Given the description of an element on the screen output the (x, y) to click on. 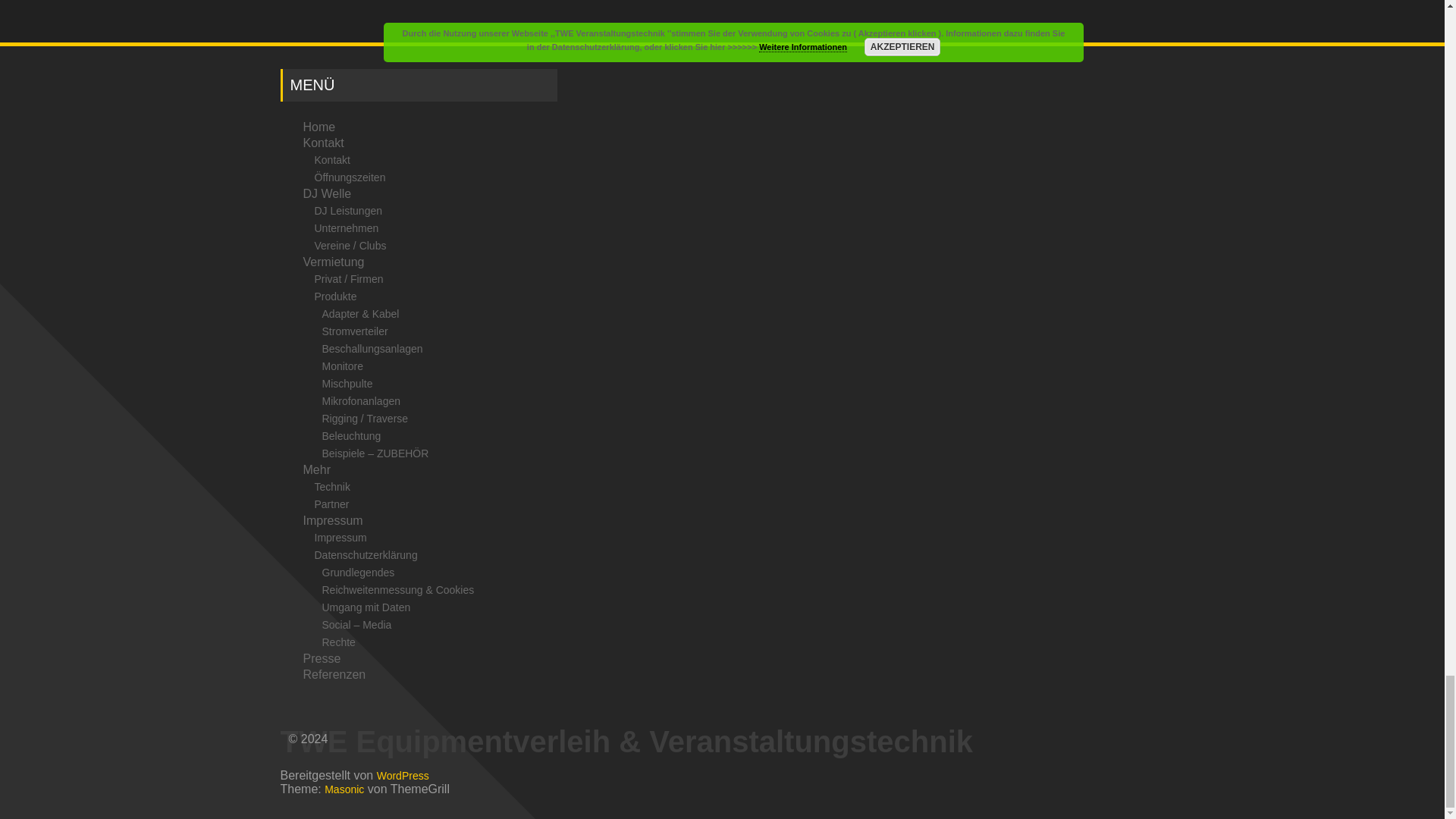
Masonic (344, 788)
WordPress (403, 775)
